Given the description of an element on the screen output the (x, y) to click on. 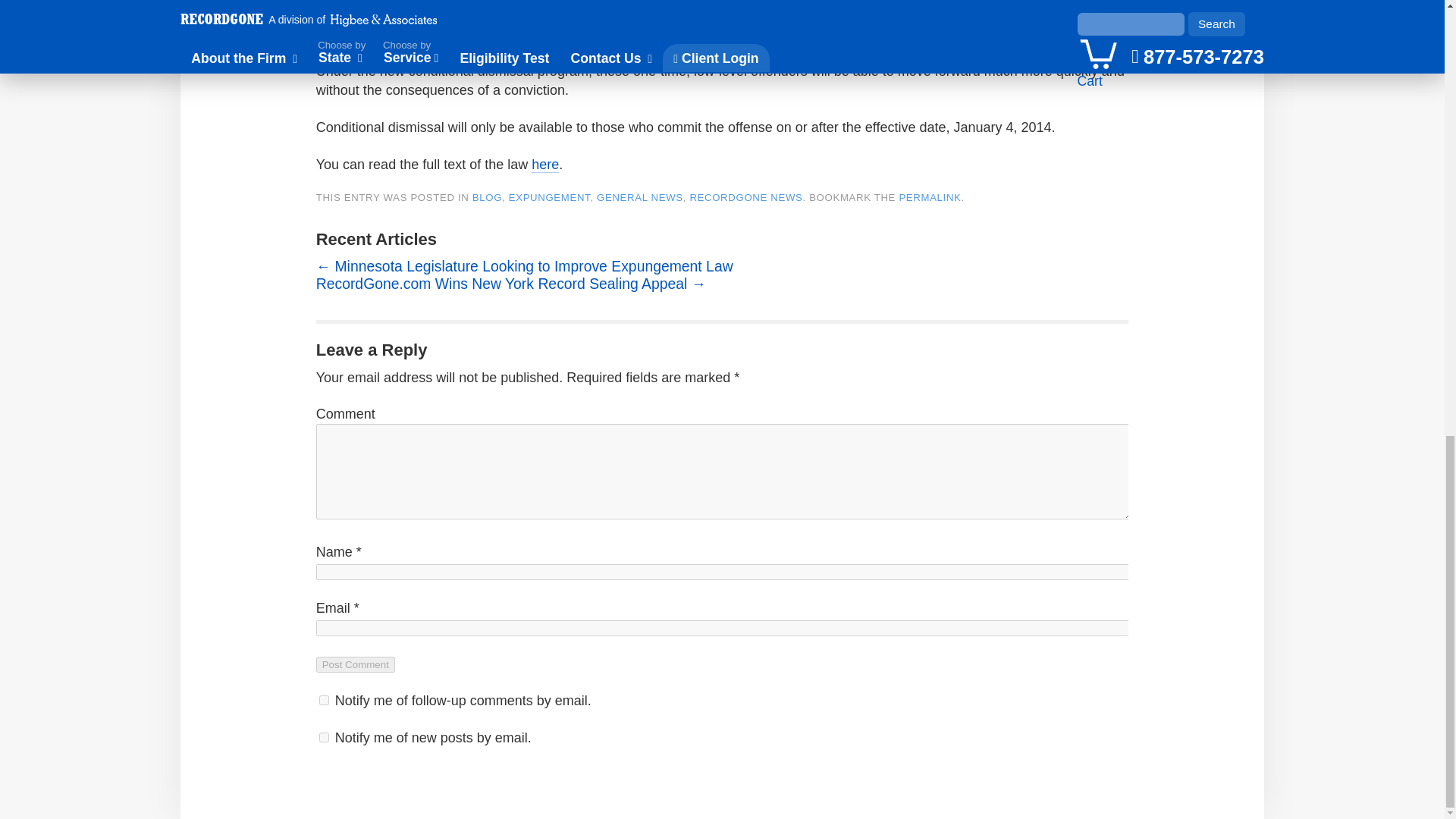
Post Comment (354, 664)
subscribe (323, 700)
subscribe (323, 737)
